Given the description of an element on the screen output the (x, y) to click on. 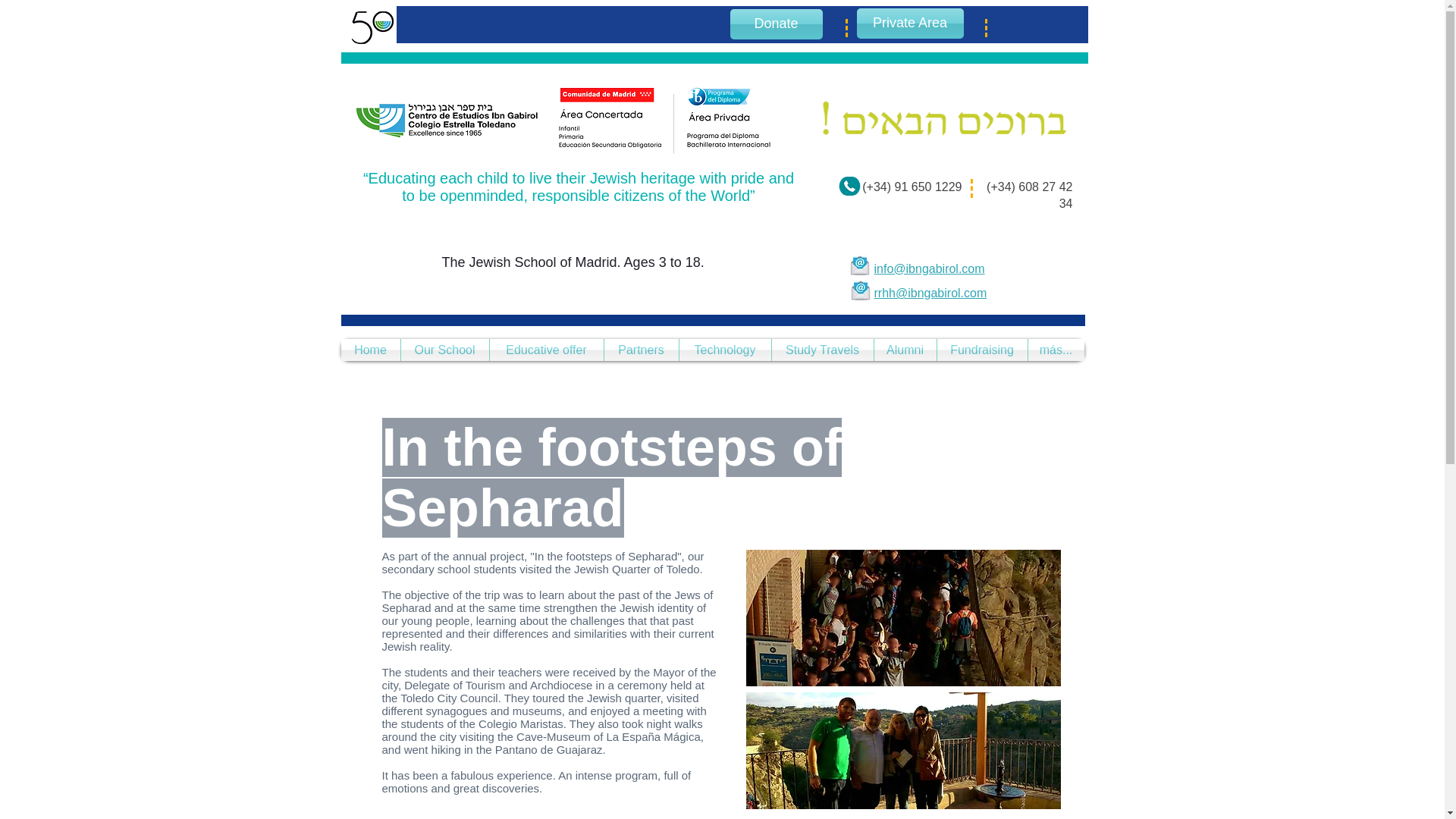
Study Travels (822, 350)
Home (370, 350)
Partners (641, 350)
Our School (443, 350)
Donate (775, 24)
Alumni (904, 350)
Private Area (910, 23)
Educative offer (546, 350)
Fundraising (982, 350)
Technology (725, 350)
